Given the description of an element on the screen output the (x, y) to click on. 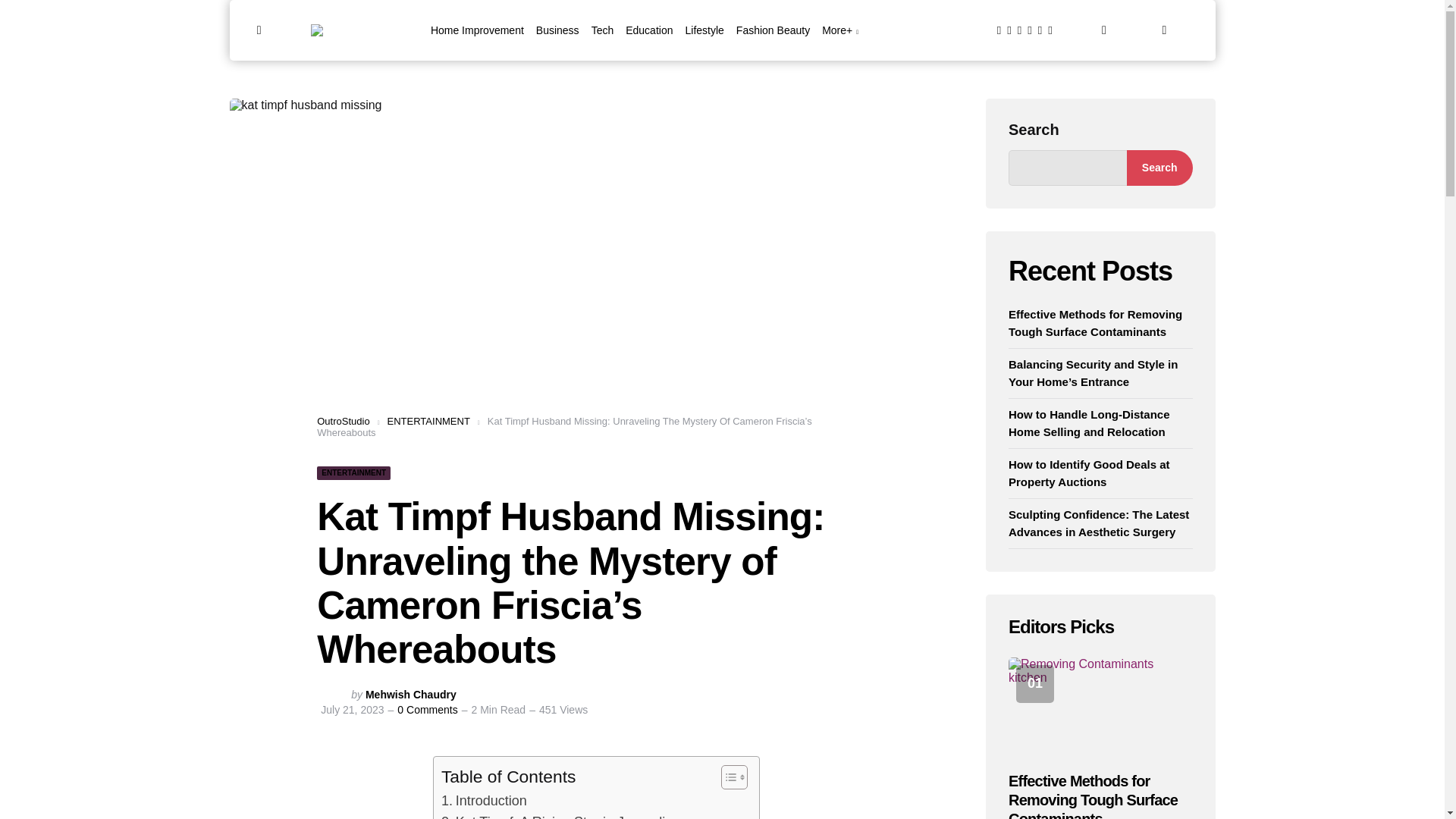
Education (649, 30)
Go to OutroStudio. (343, 420)
Fashion Beauty (772, 30)
Home Improvement (477, 30)
Kat Timpf: A Rising Star in Journalism (561, 815)
Lifestyle (703, 30)
Tech (602, 30)
Business (557, 30)
Go to the ENTERTAINMENT Category archives. (428, 420)
Introduction (484, 801)
